Given the description of an element on the screen output the (x, y) to click on. 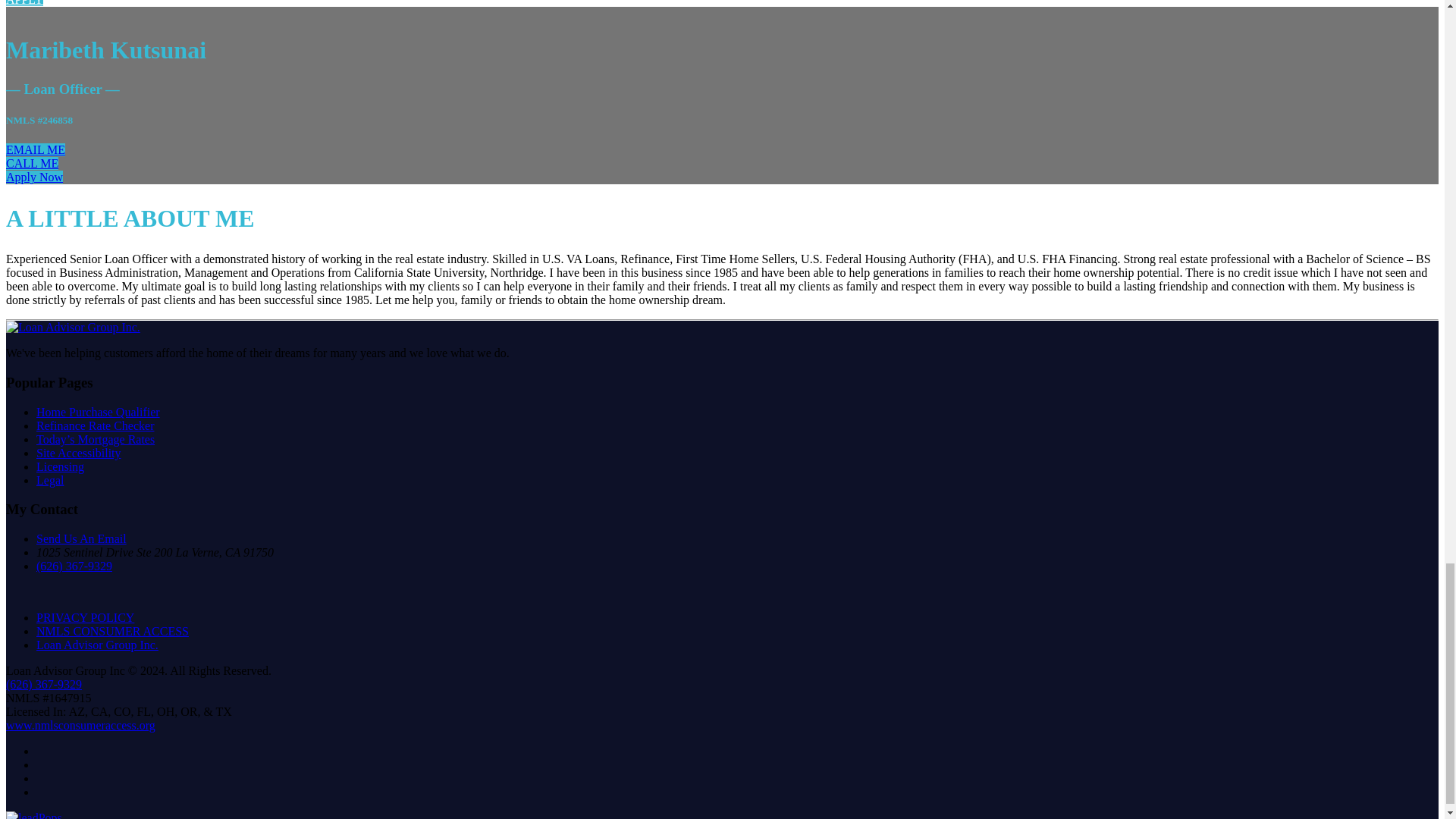
EMAIL ME (35, 149)
APPLY (24, 2)
Licensing (60, 466)
Refinance Rate Checker (95, 425)
Site Accessibility (78, 452)
Home Purchase Qualifier (98, 411)
CALL ME (31, 163)
Apply Now (33, 176)
